Given the description of an element on the screen output the (x, y) to click on. 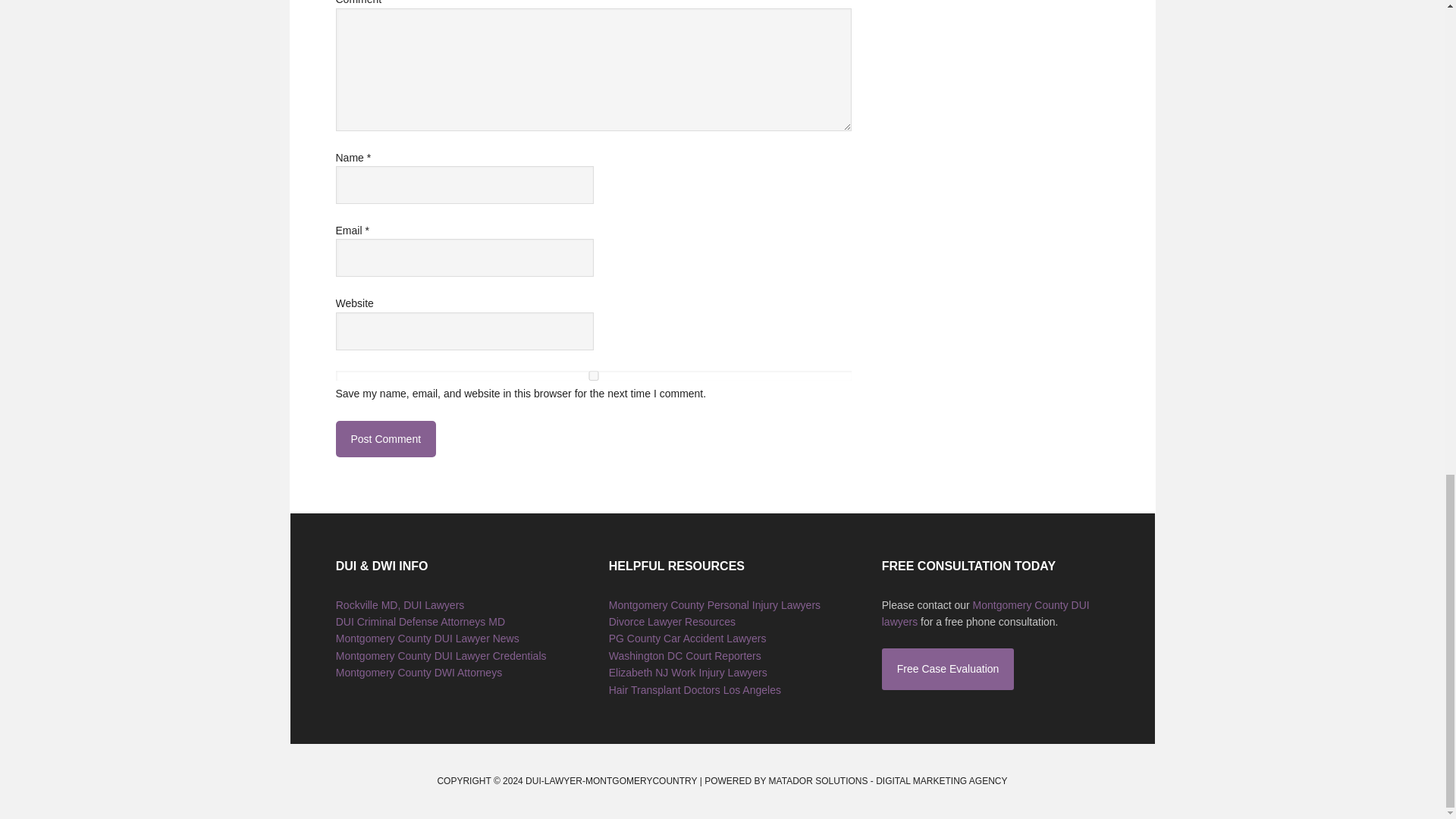
Washington DC Court Reporters (684, 655)
Free Case Evaluation (948, 668)
Montgomery County DUI Lawyer News (427, 638)
Divorce Lawyer Resources (671, 621)
Post Comment (384, 438)
DUI Criminal Defense Attorneys MD (420, 621)
Rockville MD, DUI Lawyers (400, 604)
Montgomery County Personal Injury Lawyers (714, 604)
Hair Transplant Doctors Los Angeles (694, 689)
Montgomery County DUI lawyers (985, 613)
